Given the description of an element on the screen output the (x, y) to click on. 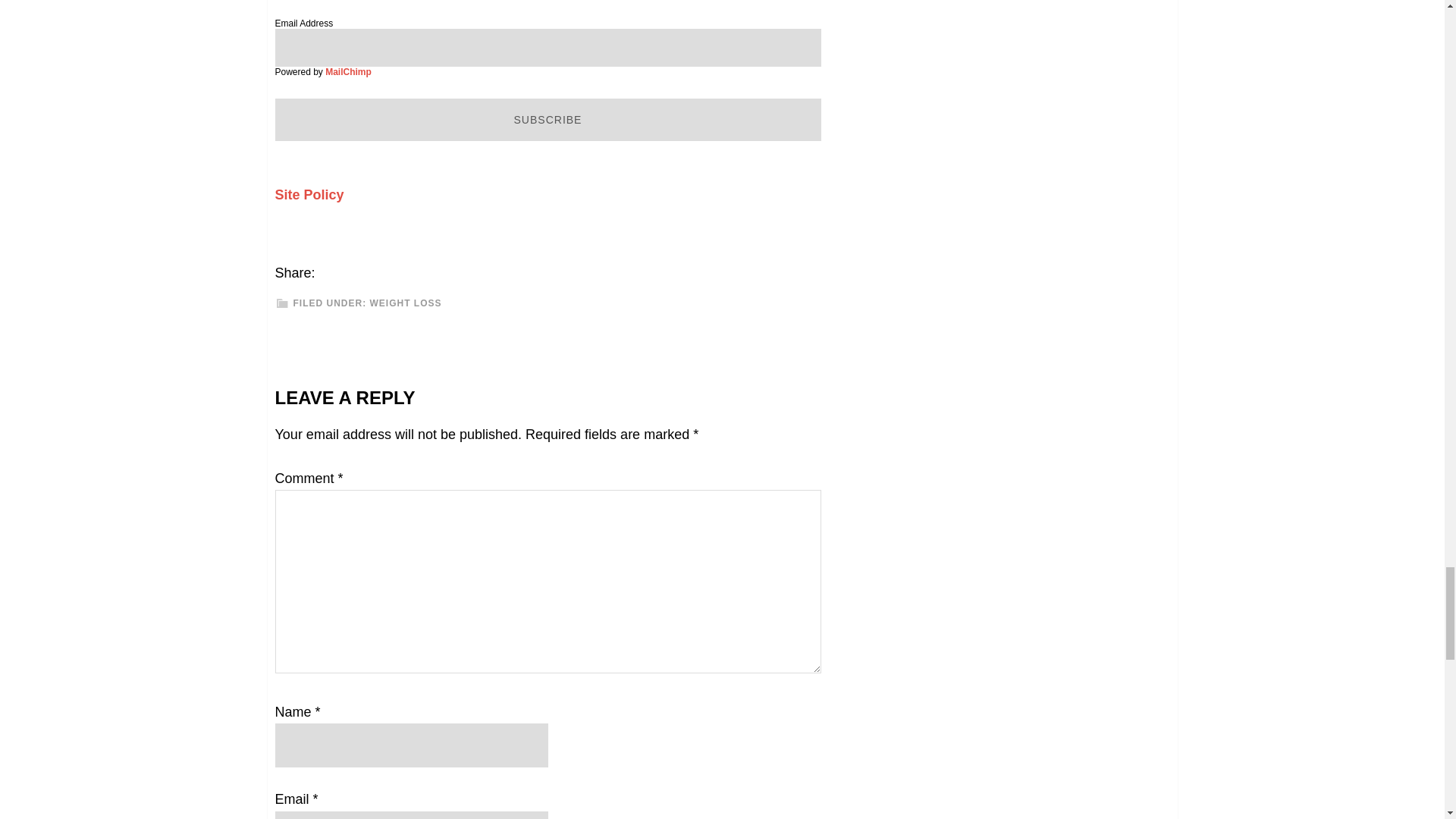
Subscribe (548, 119)
MailChimp (347, 71)
MailChimp - email marketing made easy and fun (347, 71)
WEIGHT LOSS (405, 303)
Subscribe (548, 119)
Site Policy (309, 194)
